Given the description of an element on the screen output the (x, y) to click on. 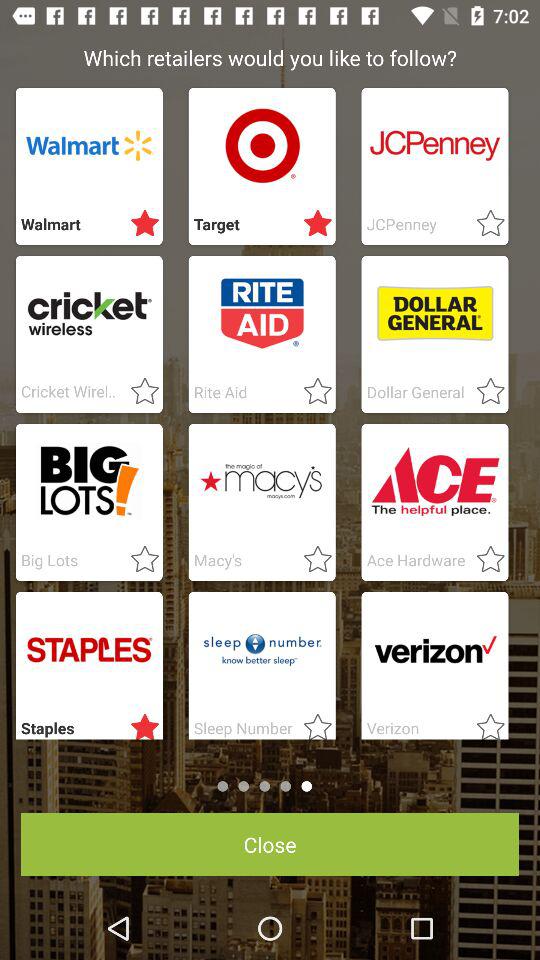
favorited (139, 392)
